Given the description of an element on the screen output the (x, y) to click on. 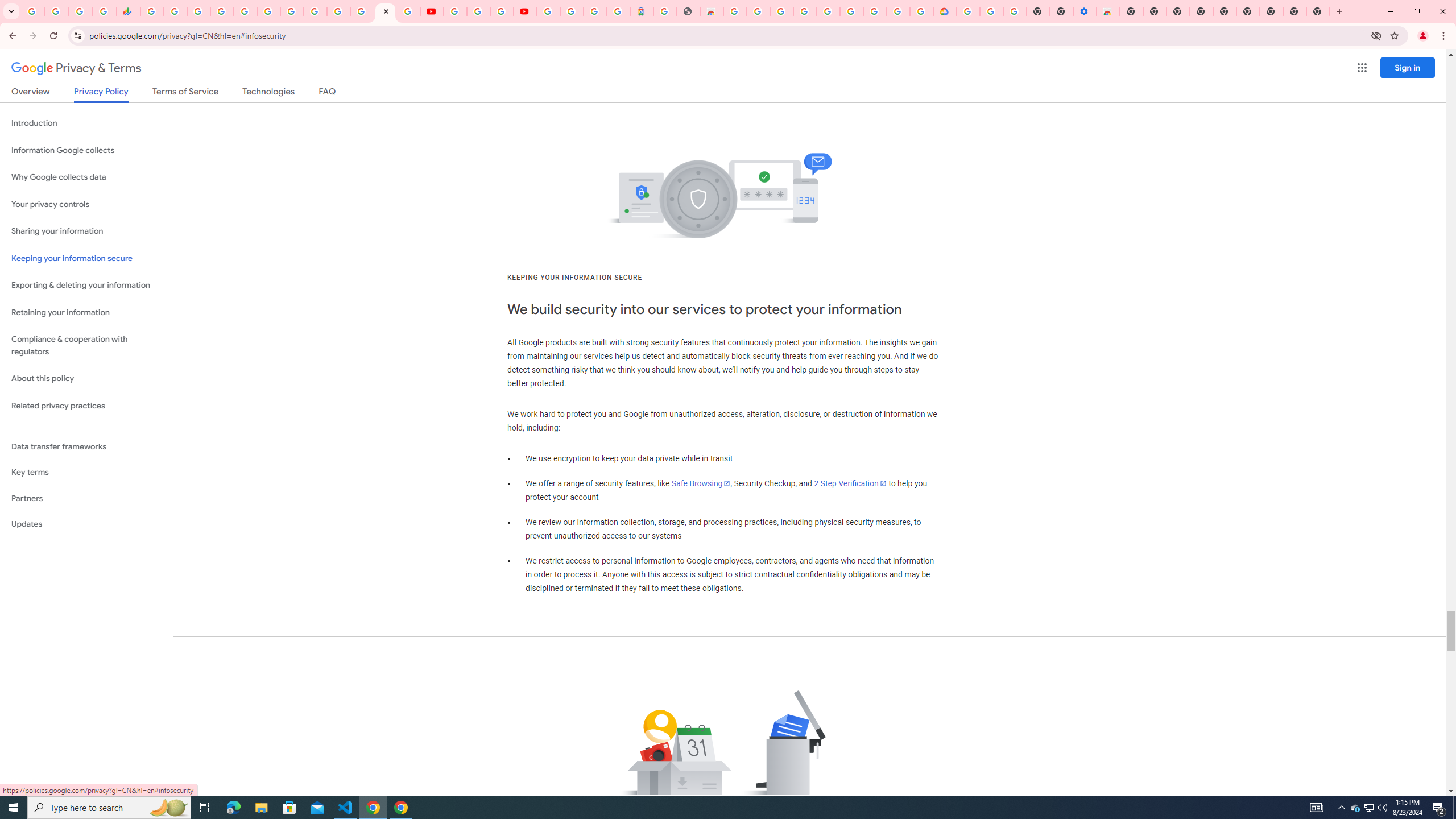
Content Creator Programs & Opportunities - YouTube Creators (524, 11)
New Tab (1131, 11)
2 Step Verification (849, 483)
YouTube (314, 11)
